Given the description of an element on the screen output the (x, y) to click on. 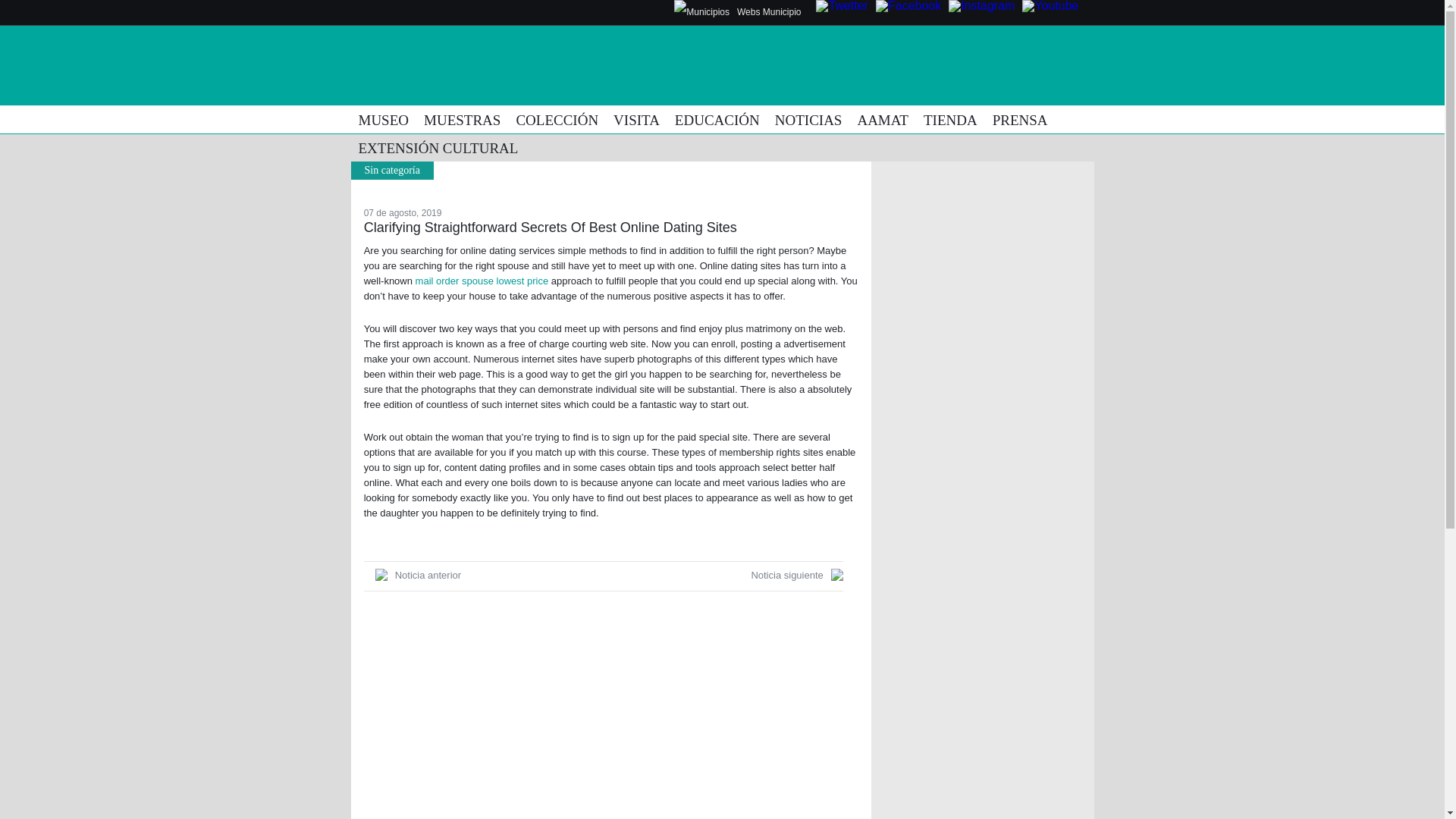
PRENSA (1020, 120)
VISITA (635, 120)
TIENDA (950, 120)
NOTICIAS (808, 120)
MUSEO (383, 120)
MUESTRAS (462, 120)
AAMAT (881, 120)
